Given the description of an element on the screen output the (x, y) to click on. 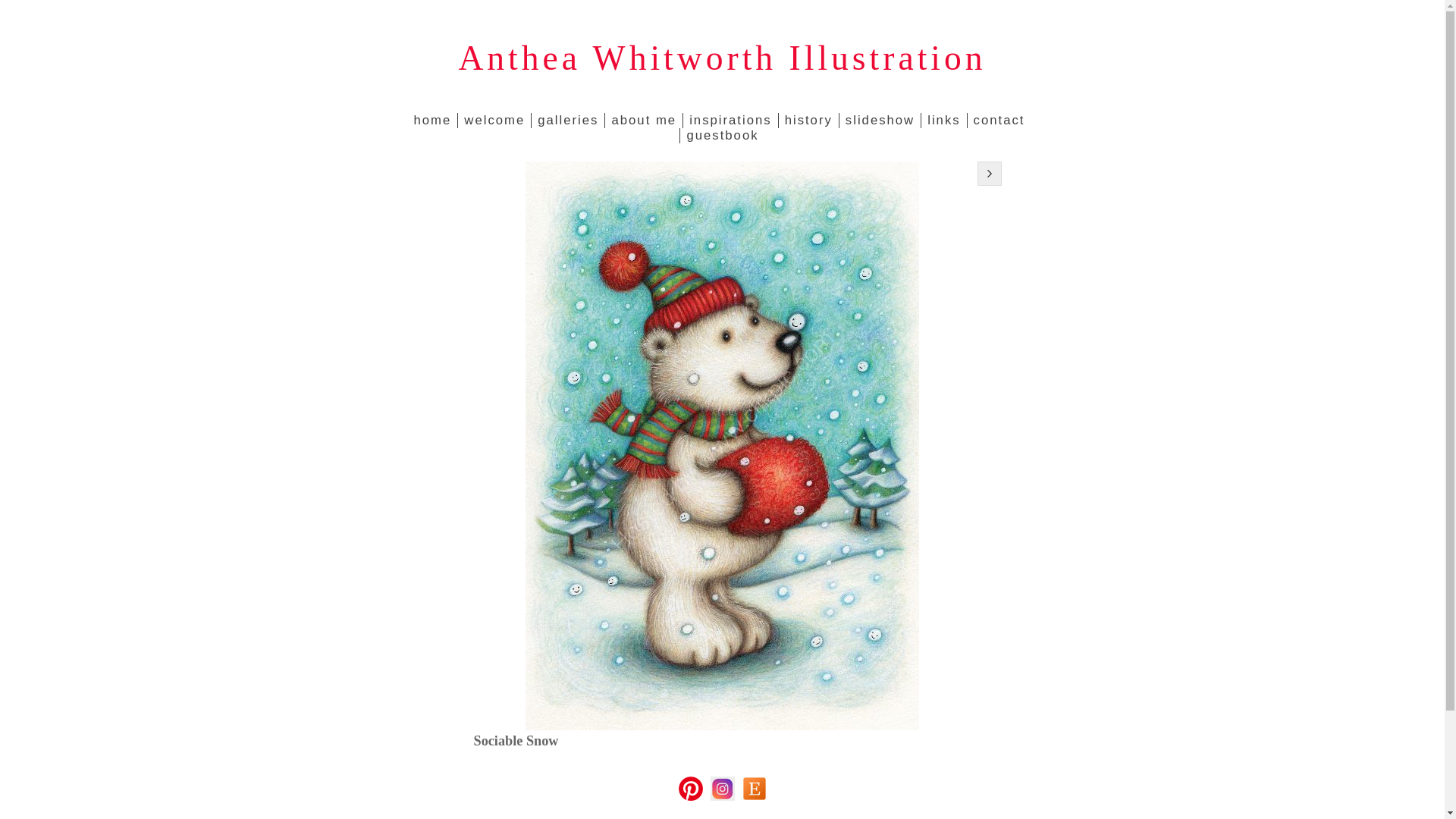
home (435, 120)
links (943, 120)
slideshow (879, 120)
welcome (494, 120)
guestbook (721, 135)
contact (998, 120)
history (807, 120)
about me (643, 120)
galleries (567, 120)
Anthea Whitworth Illustration (721, 57)
inspirations (729, 120)
